Given the description of an element on the screen output the (x, y) to click on. 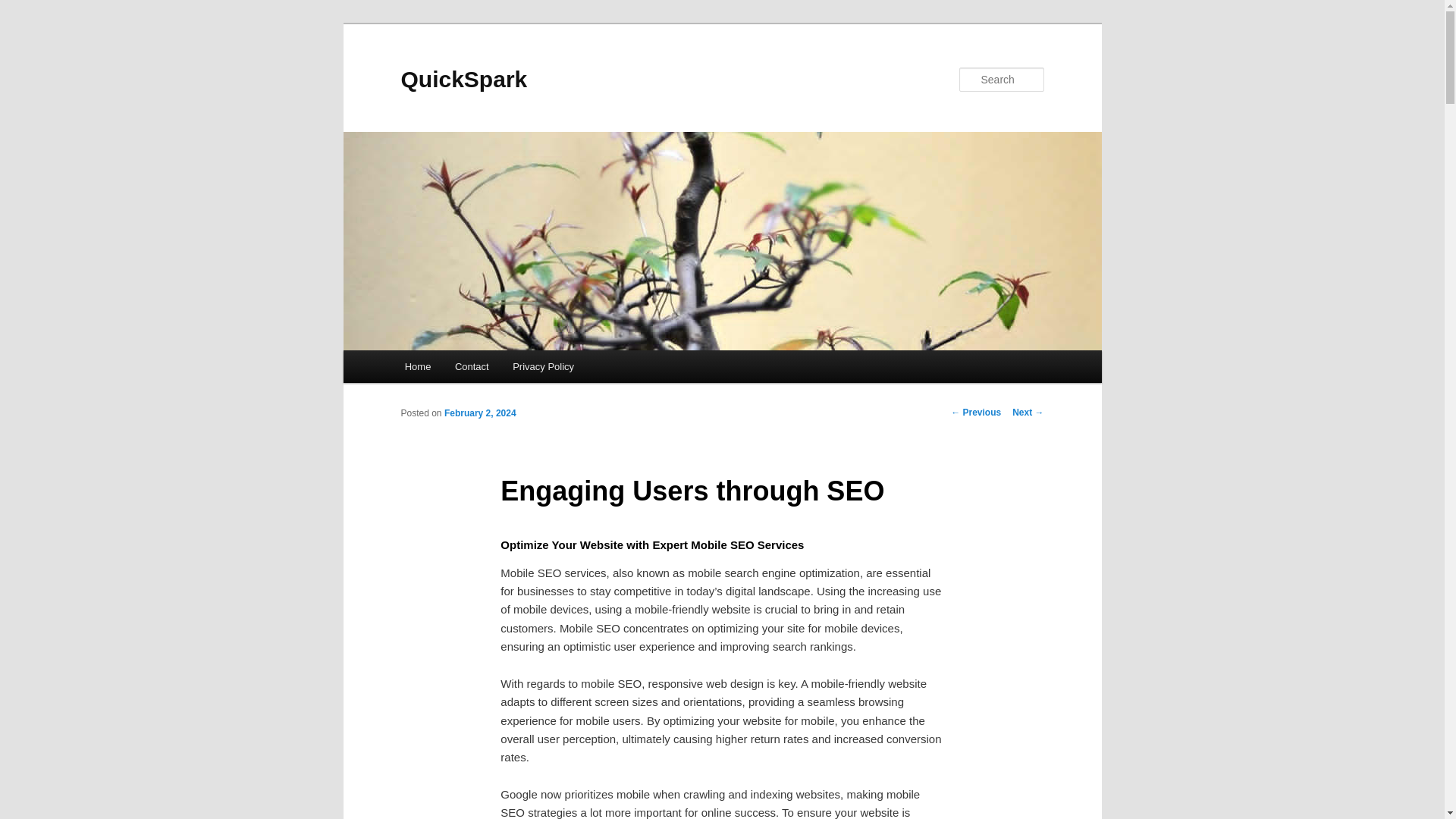
7:03 pm (480, 412)
Privacy Policy (542, 366)
Contact (471, 366)
Home (417, 366)
February 2, 2024 (480, 412)
QuickSpark (463, 78)
Search (24, 8)
